Given the description of an element on the screen output the (x, y) to click on. 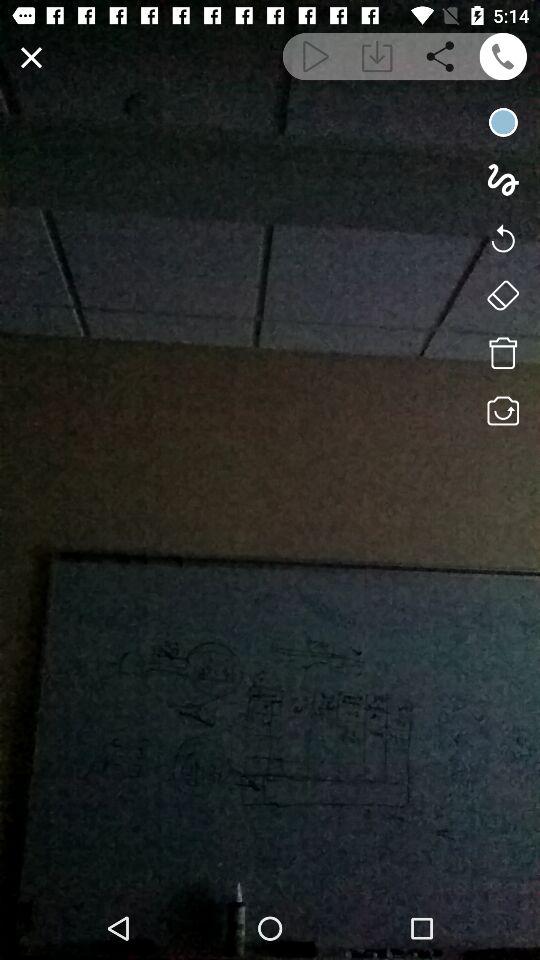
delete the box (502, 353)
